Given the description of an element on the screen output the (x, y) to click on. 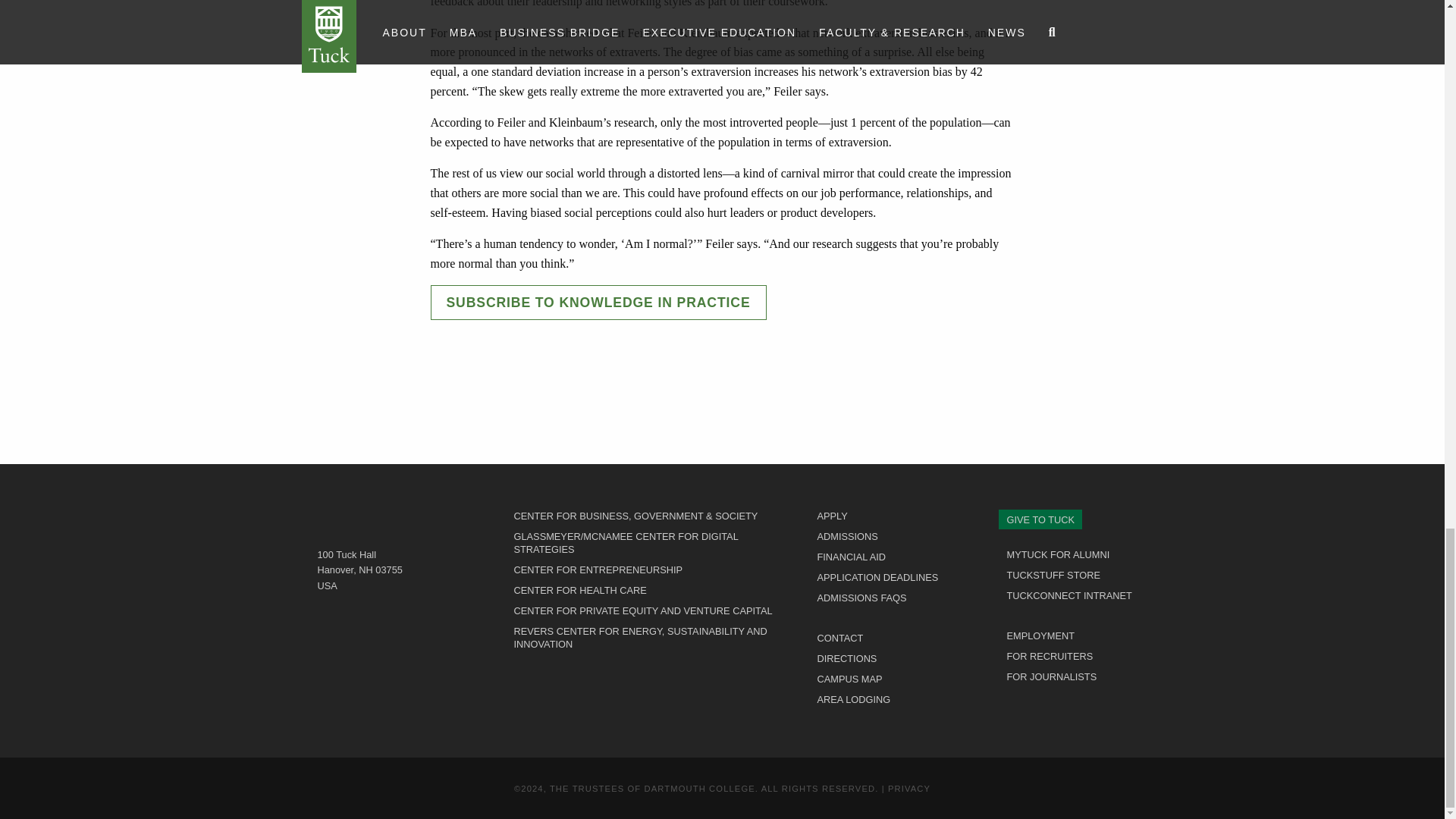
Scroll up (721, 761)
Visit our YouTube page (1086, 705)
Visit our Instagram page (1032, 705)
